Given the description of an element on the screen output the (x, y) to click on. 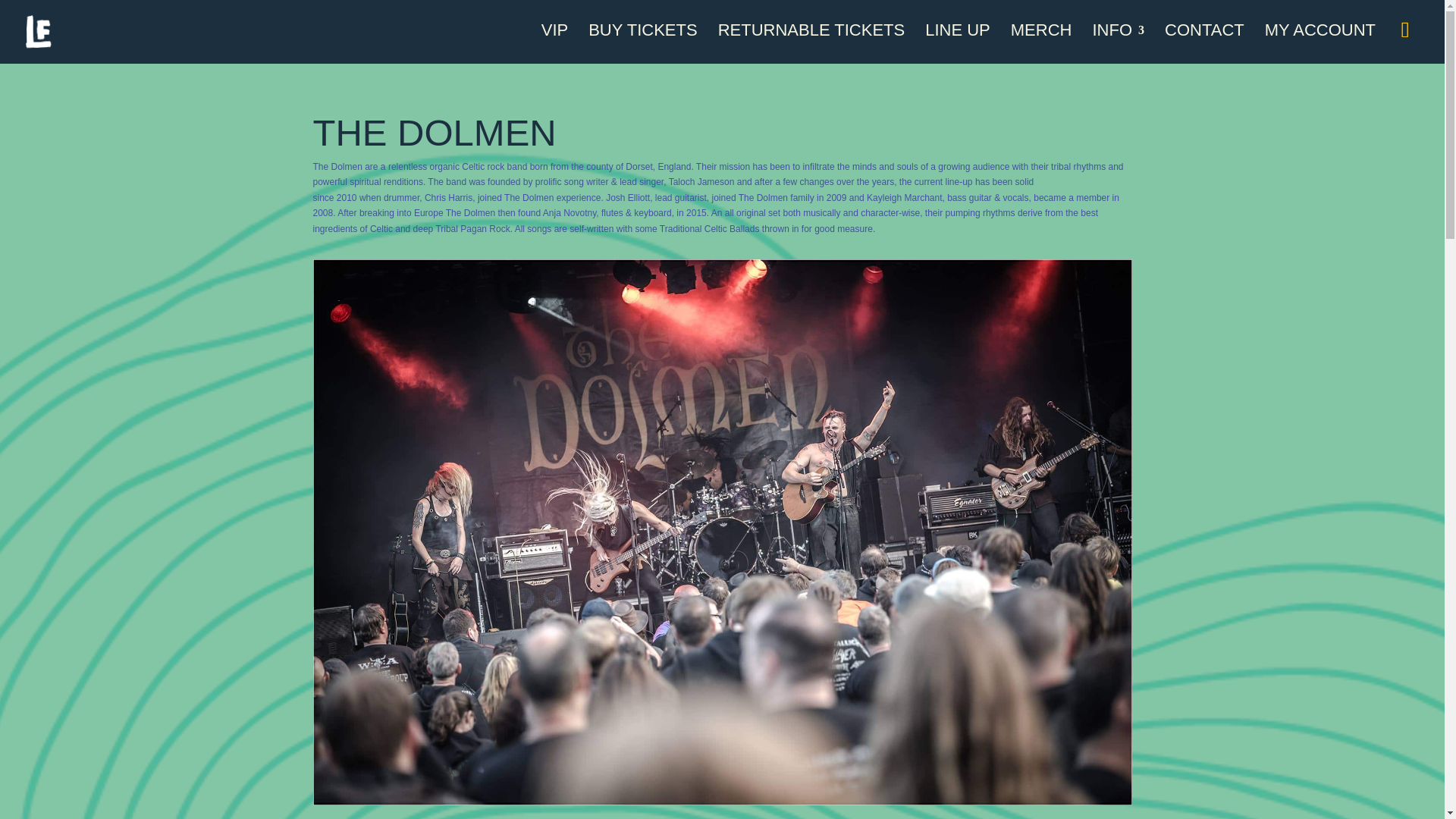
MERCH (1040, 44)
RETURNABLE TICKETS (811, 44)
BUY TICKETS (642, 44)
LINE UP (957, 44)
MY ACCOUNT (1320, 44)
CONTACT (1204, 44)
INFO (1118, 44)
